Given the description of an element on the screen output the (x, y) to click on. 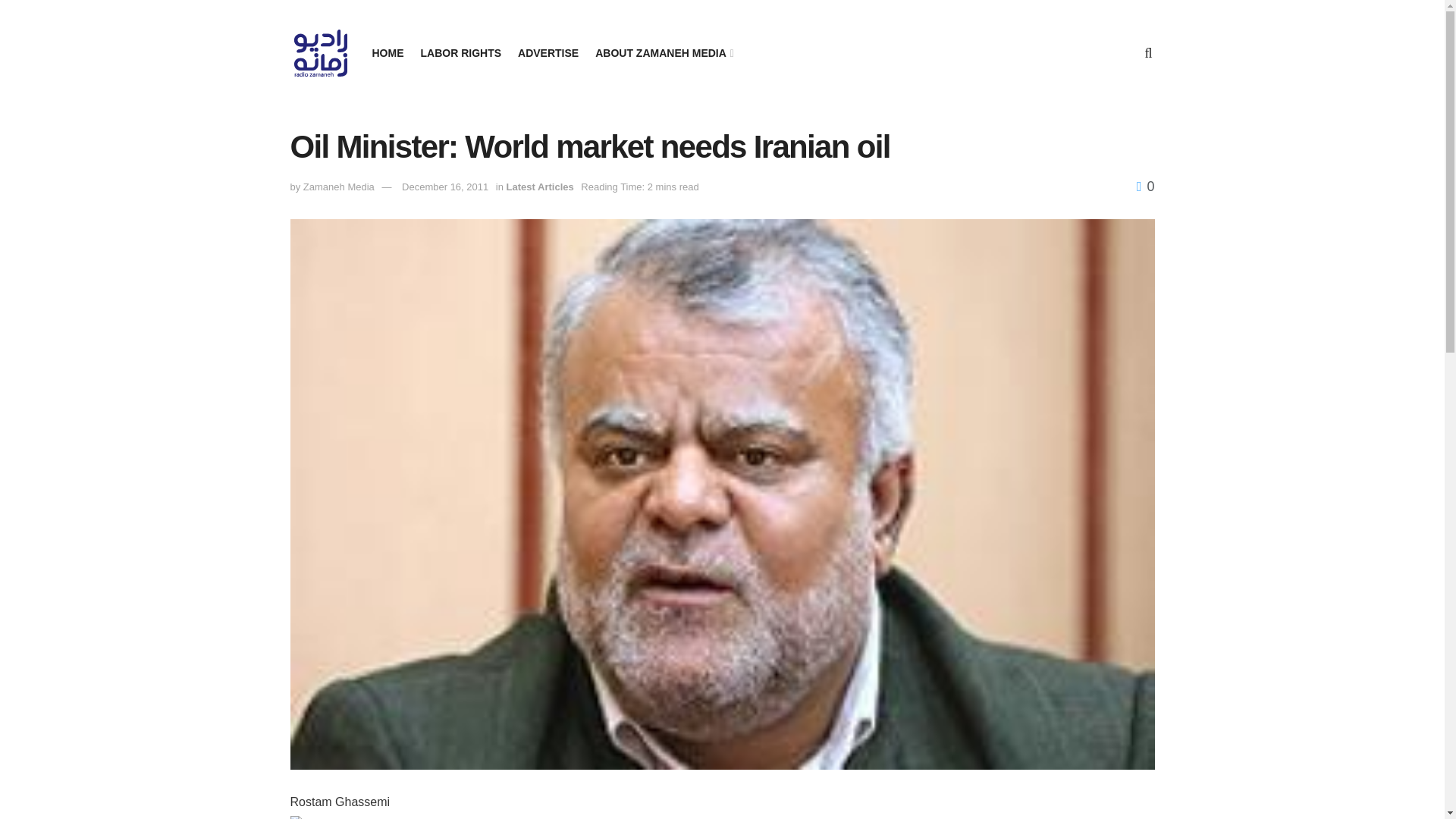
LABOR RIGHTS (460, 52)
December 16, 2011 (444, 186)
Latest Articles (539, 186)
ADVERTISE (548, 52)
ABOUT ZAMANEH MEDIA (663, 52)
HOME (387, 52)
0 (1145, 186)
